Given the description of an element on the screen output the (x, y) to click on. 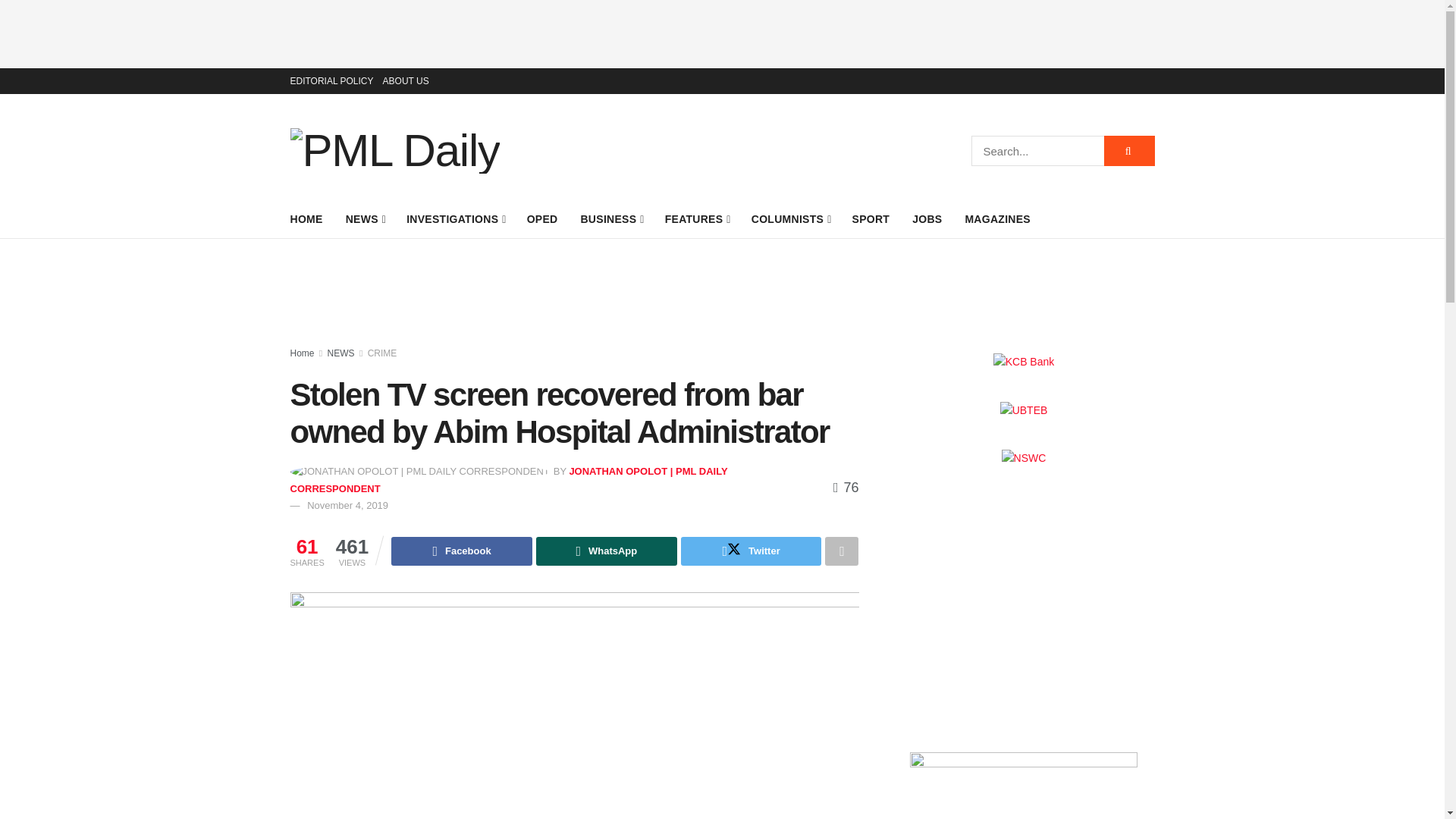
EDITORIAL POLICY (330, 80)
MAGAZINES (996, 219)
JOBS (927, 219)
OPED (542, 219)
HOME (305, 219)
FEATURES (697, 219)
SPORT (870, 219)
BUSINESS (610, 219)
NEWS (365, 219)
ABOUT US (405, 80)
COLUMNISTS (790, 219)
INVESTIGATIONS (454, 219)
